Given the description of an element on the screen output the (x, y) to click on. 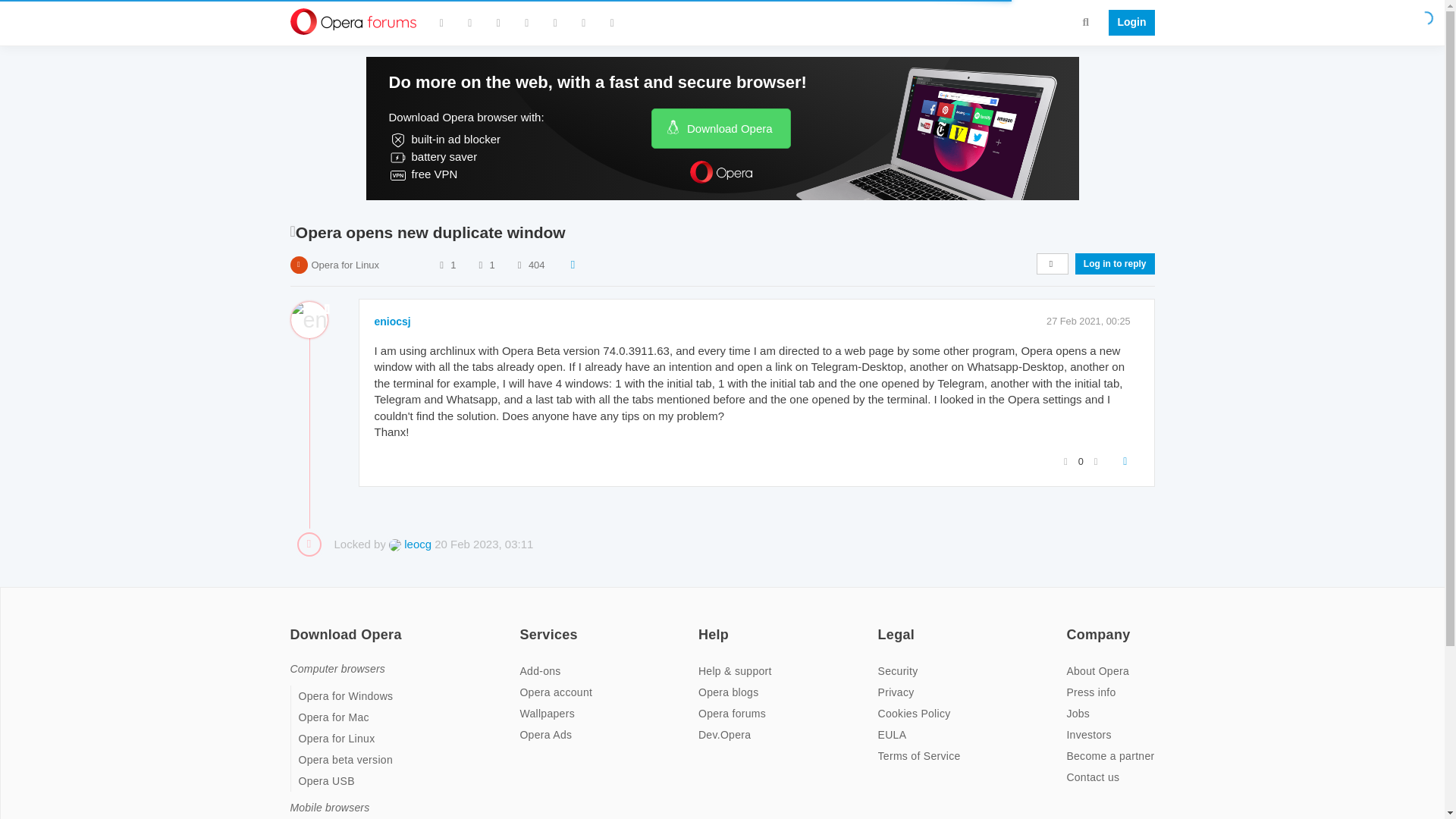
Log in to reply (1114, 263)
on (702, 624)
Posters (440, 265)
27 Feb 2021, 00:25 (1088, 320)
on (523, 624)
Login (1127, 22)
Search (1085, 21)
Download Opera (720, 128)
on (881, 624)
Opera for Linux (344, 265)
